Given the description of an element on the screen output the (x, y) to click on. 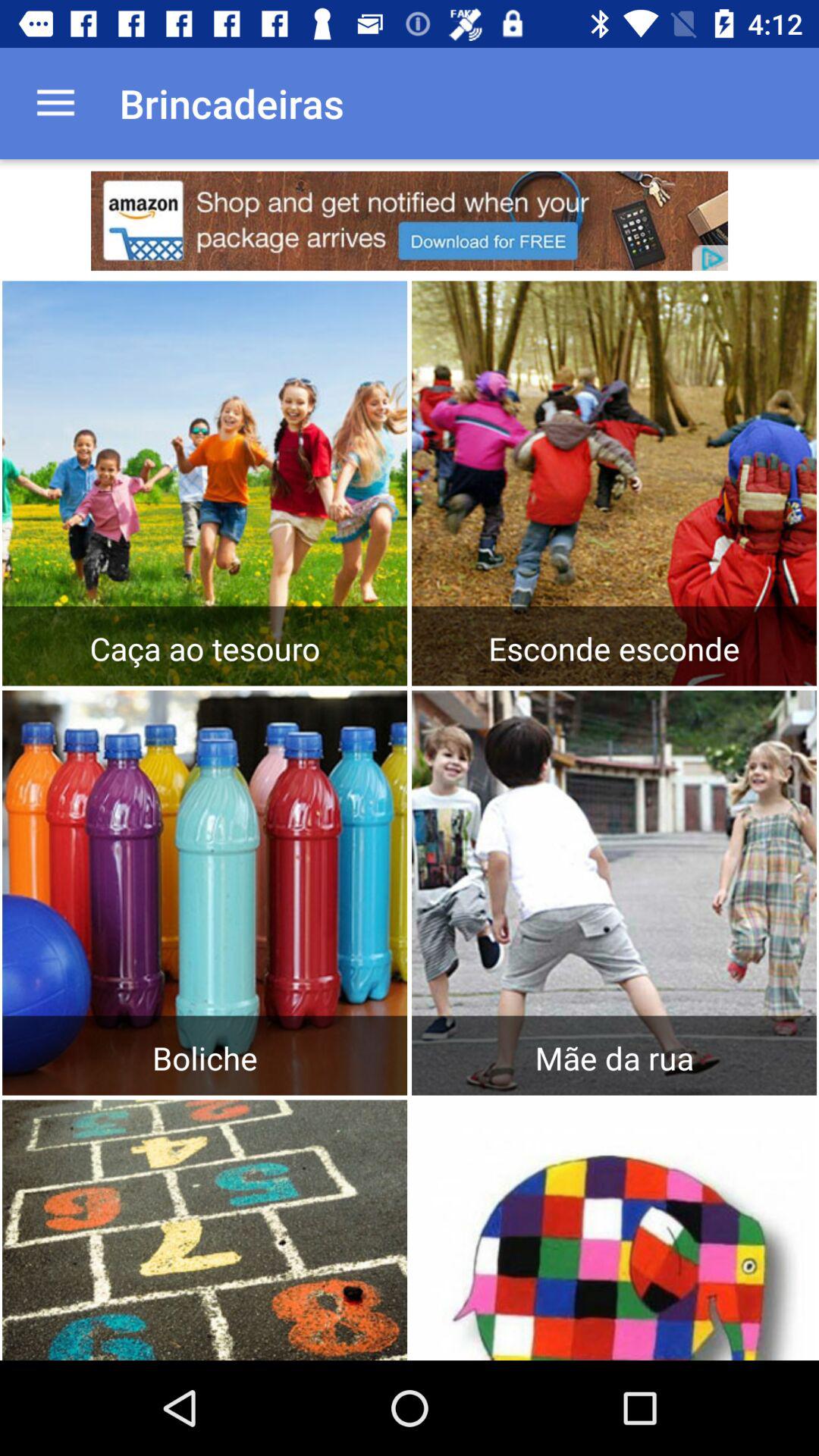
click on advertisement (409, 220)
